Given the description of an element on the screen output the (x, y) to click on. 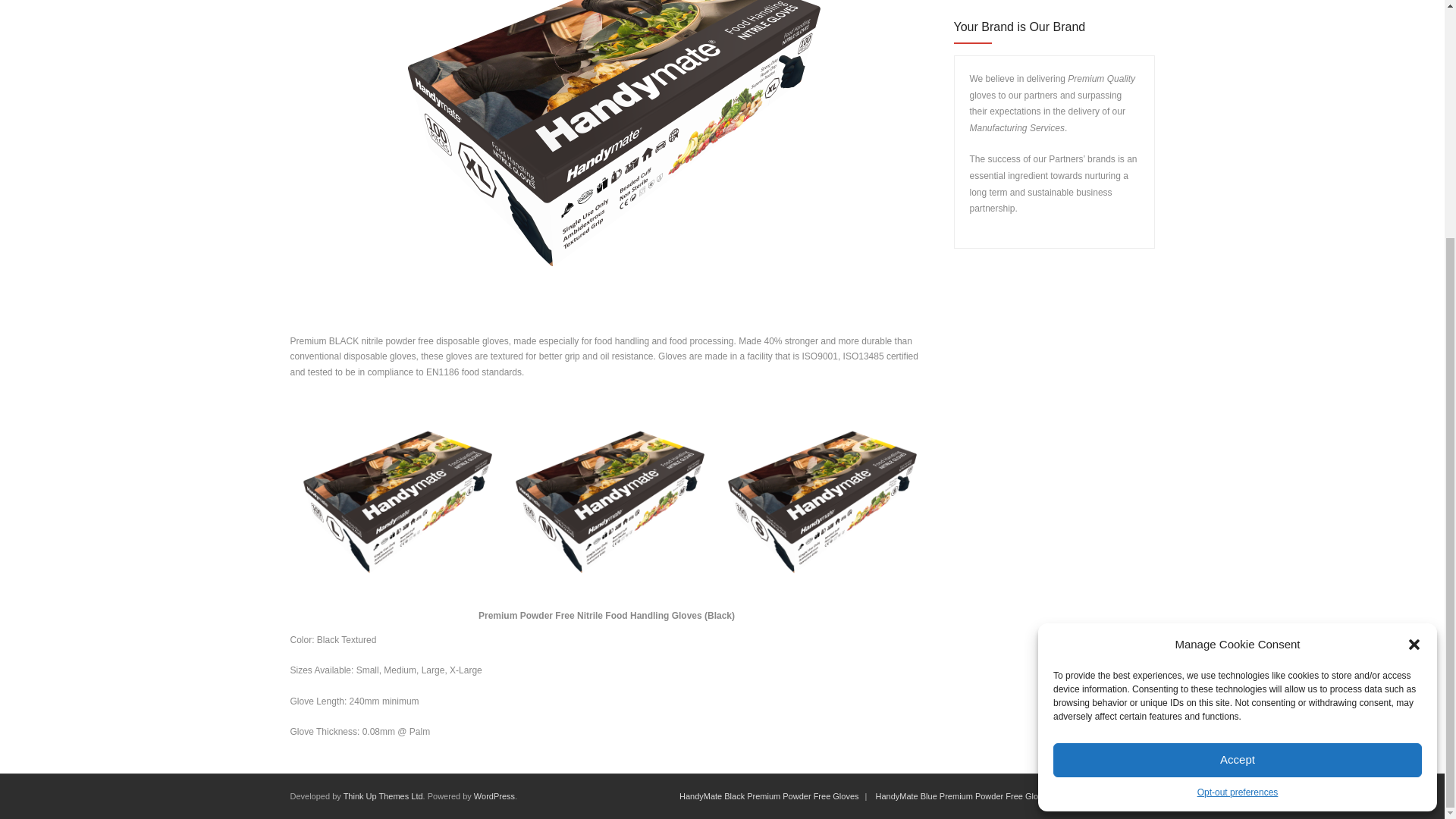
HandyMate Blue Premium Powder Free Gloves (963, 795)
Opt-out preferences (1237, 466)
HandyMate Black Premium Powder Free Gloves (768, 795)
Terms and Conditions (1107, 795)
Think Up Themes Ltd (383, 795)
Accept (1237, 433)
WordPress (494, 795)
